Given the description of an element on the screen output the (x, y) to click on. 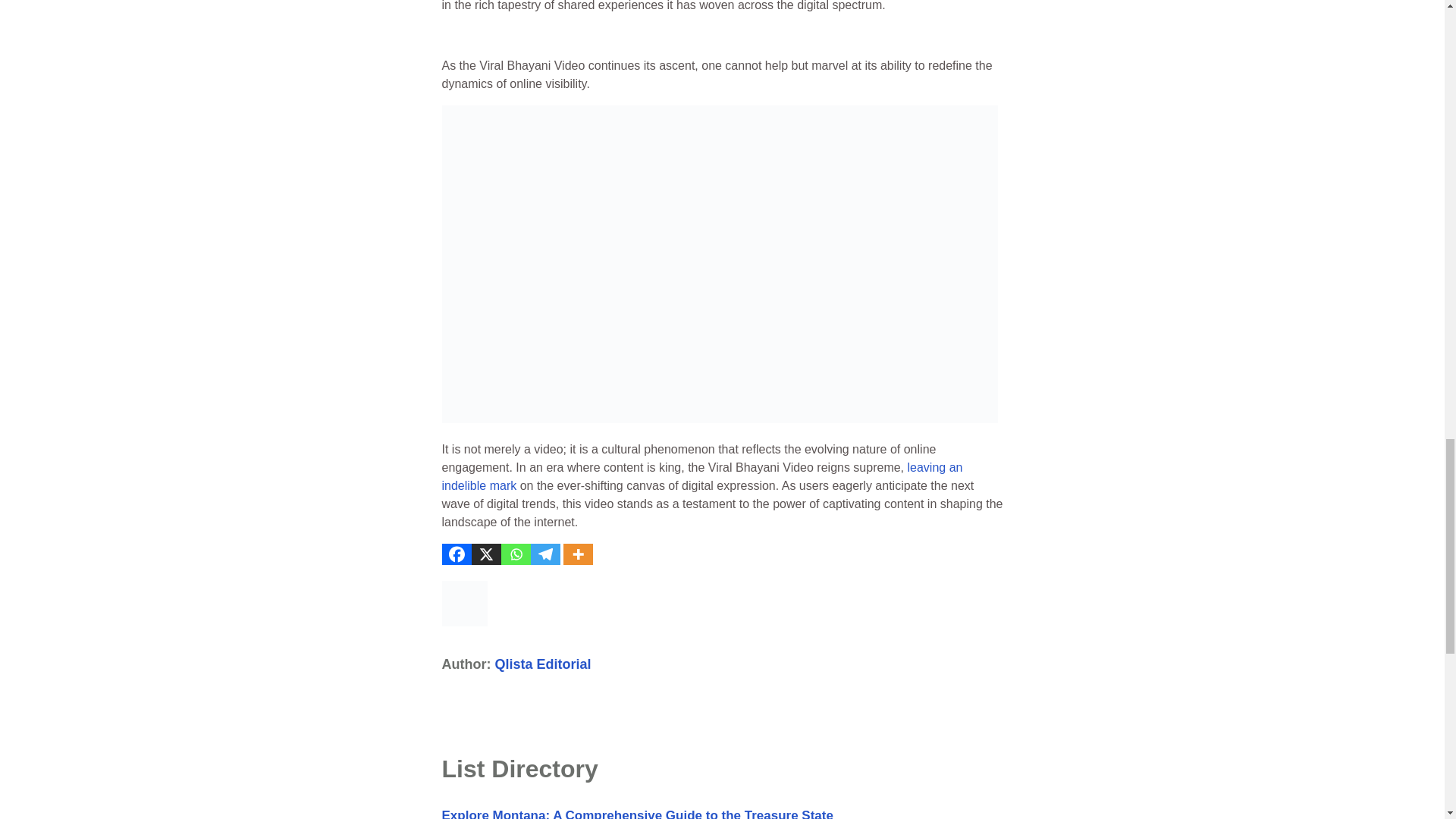
ext tembak (701, 476)
More (577, 554)
Telegram (545, 554)
Facebook (455, 554)
Whatsapp (514, 554)
X (485, 554)
